Given the description of an element on the screen output the (x, y) to click on. 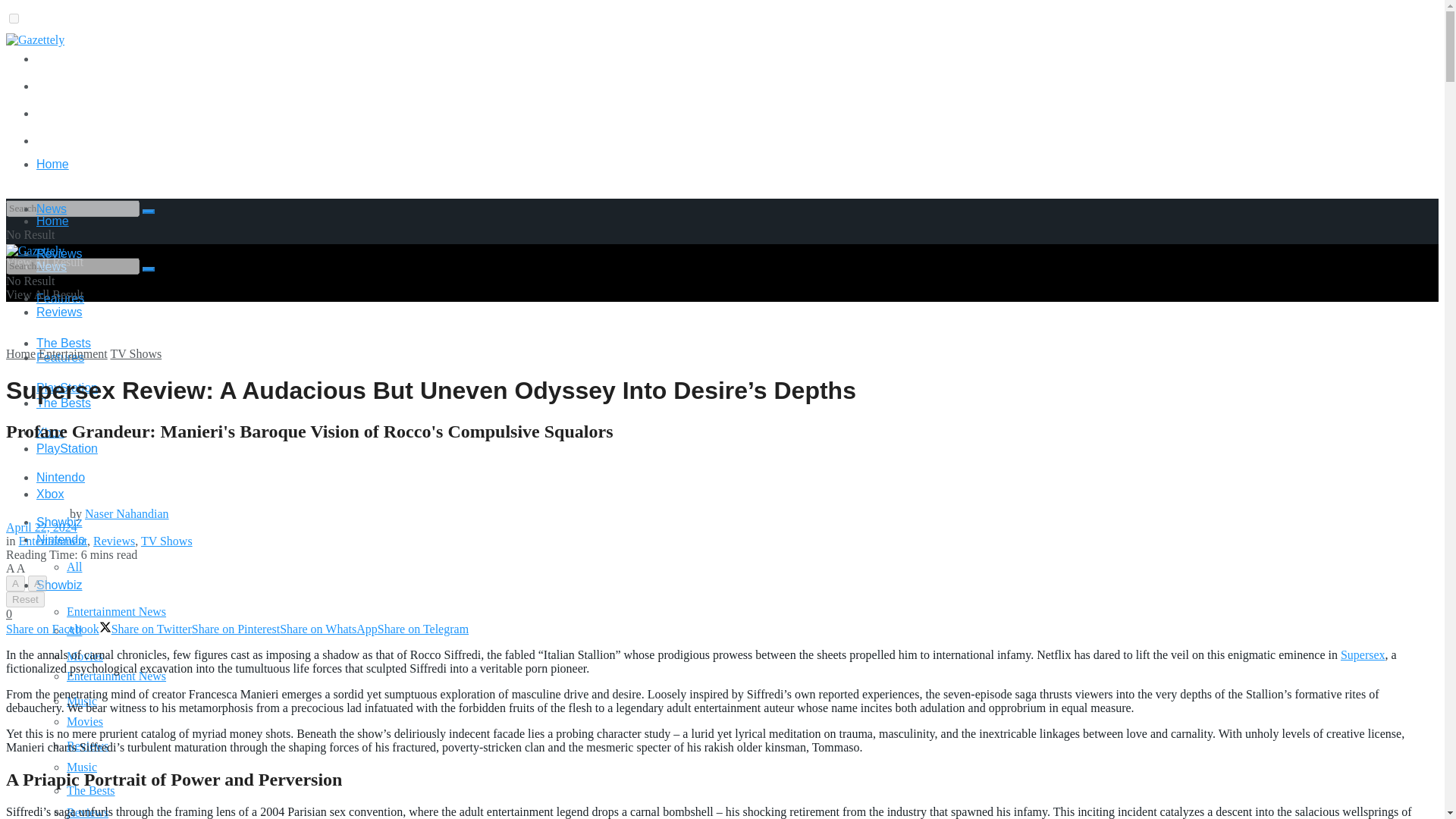
Reviews (86, 745)
on (13, 18)
Home (52, 164)
Terms and Conditions (89, 113)
Entertainment News (115, 611)
Showbiz (58, 521)
The Bests (90, 789)
PlayStation (66, 387)
All (73, 566)
Features (60, 297)
